Given the description of an element on the screen output the (x, y) to click on. 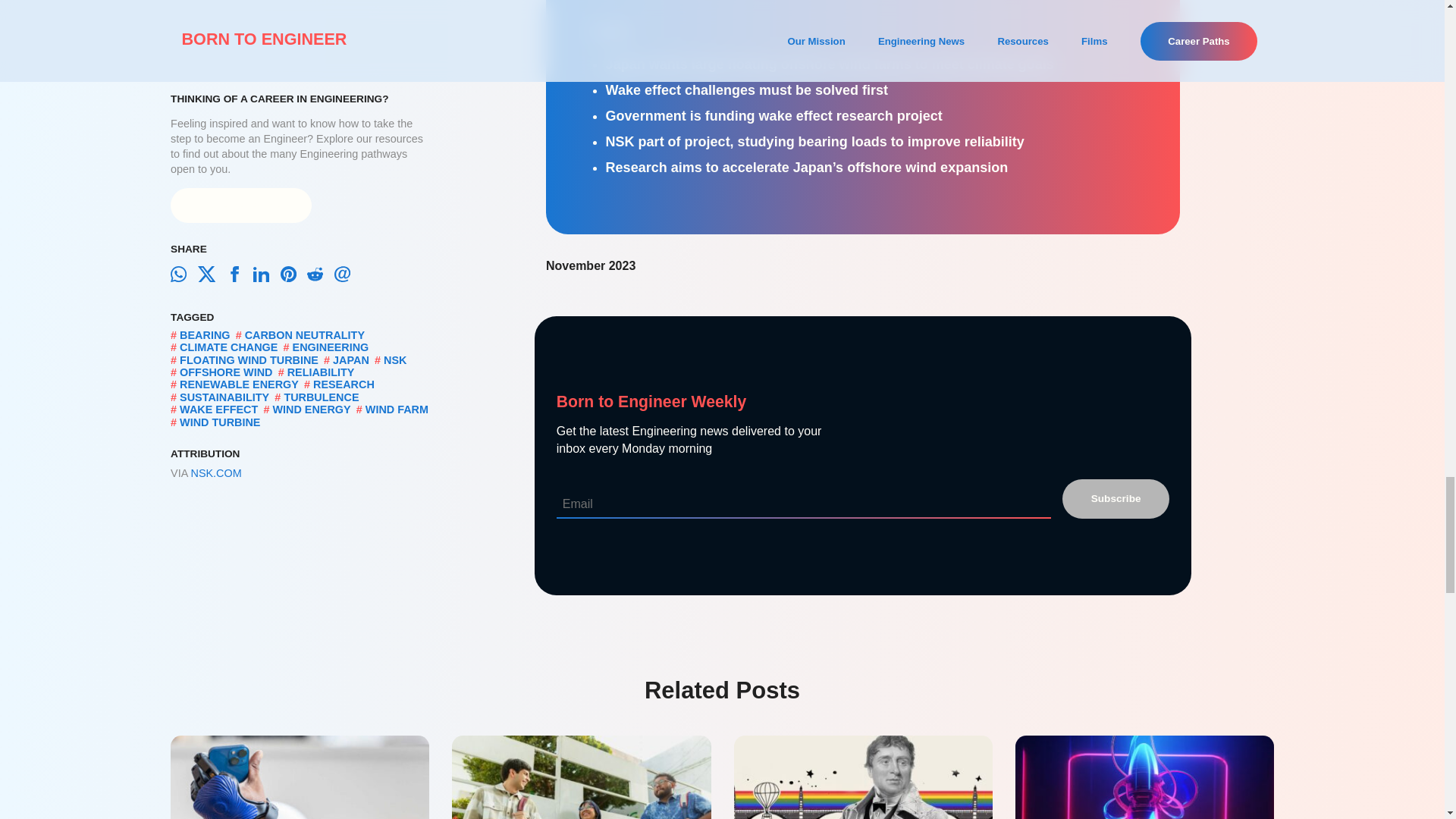
Subscribe (1115, 498)
